Given the description of an element on the screen output the (x, y) to click on. 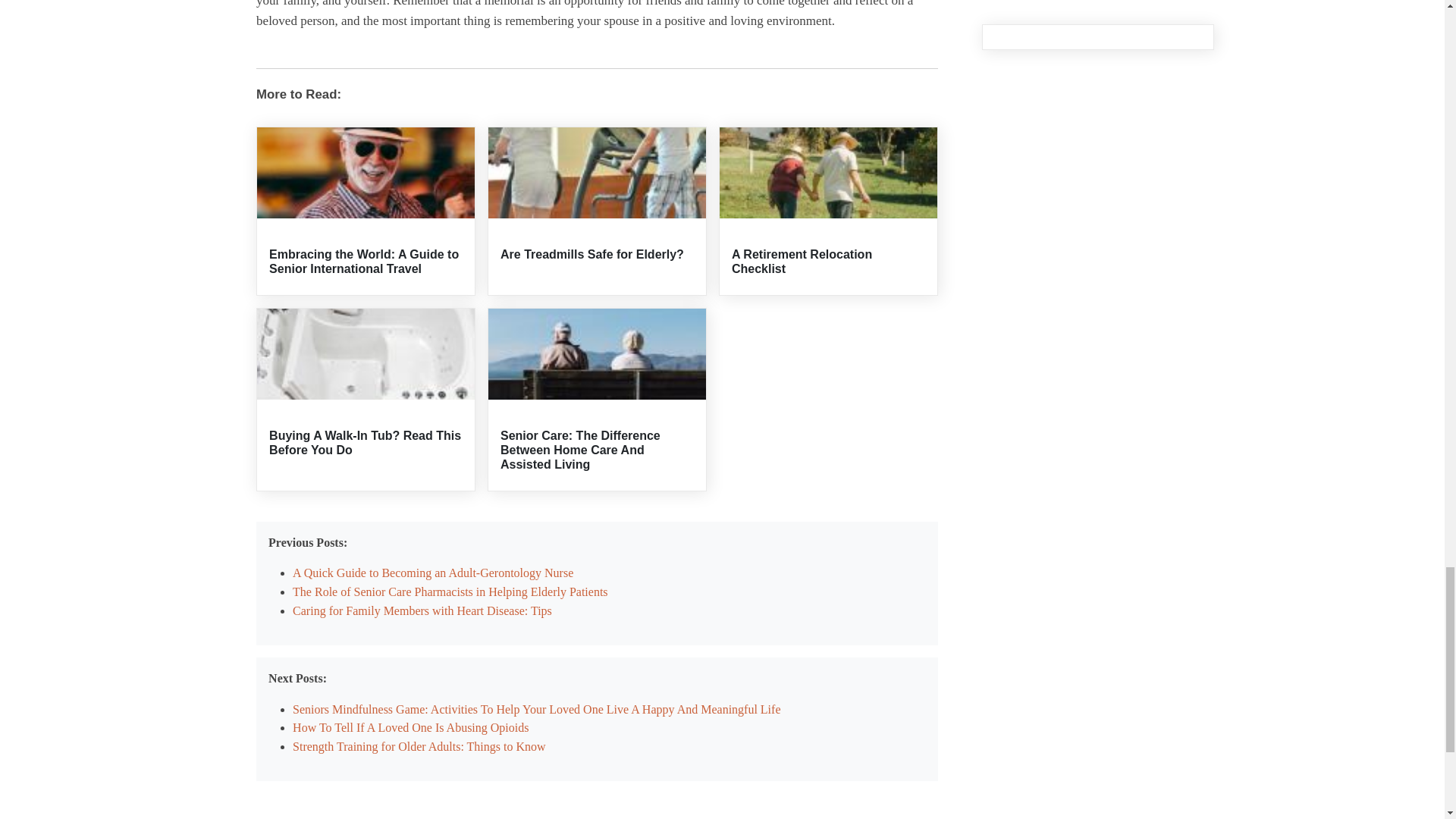
A Retirement Relocation Checklist (802, 261)
Caring for Family Members with Heart Disease: Tips (421, 610)
Strength Training for Older Adults: Things to Know (419, 746)
Are Treadmills Safe for Elderly? (592, 254)
Buying A Walk-In Tub? Read This Before You Do (365, 442)
A Quick Guide to Becoming an Adult-Gerontology Nurse (432, 572)
How To Tell If A Loved One Is Abusing Opioids (410, 727)
Embracing the World: A Guide to Senior International Travel (363, 261)
